Given the description of an element on the screen output the (x, y) to click on. 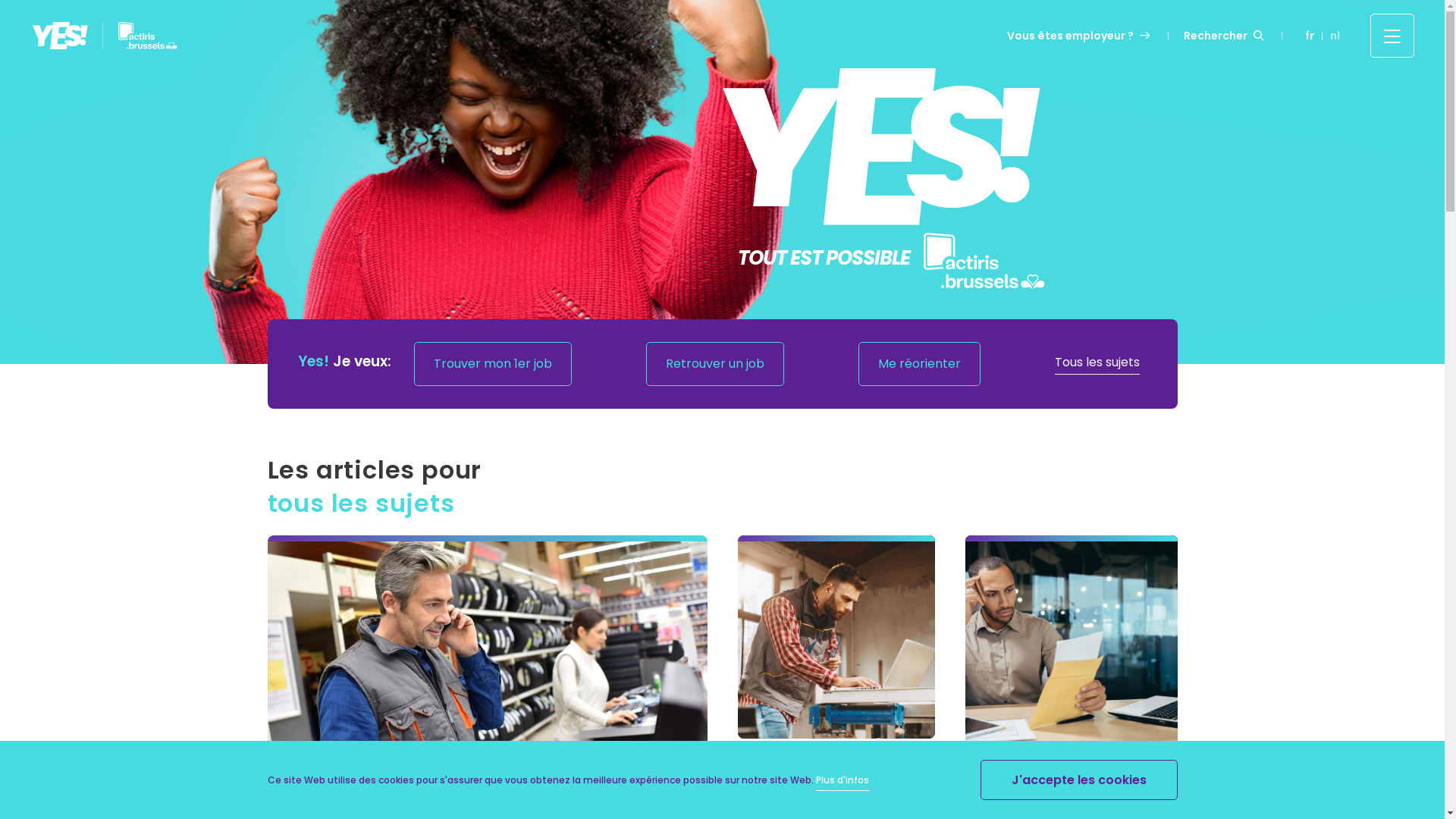
nl Element type: text (1334, 35)
Trouver mon 1er job Element type: text (492, 363)
Plus d'infos Element type: text (842, 781)
J'accepte les cookies Element type: text (1077, 779)
Retrouver un job Element type: text (715, 363)
fr Element type: text (1309, 35)
Tous les sujets Element type: text (1096, 363)
Rechercher Element type: text (1224, 35)
